Given the description of an element on the screen output the (x, y) to click on. 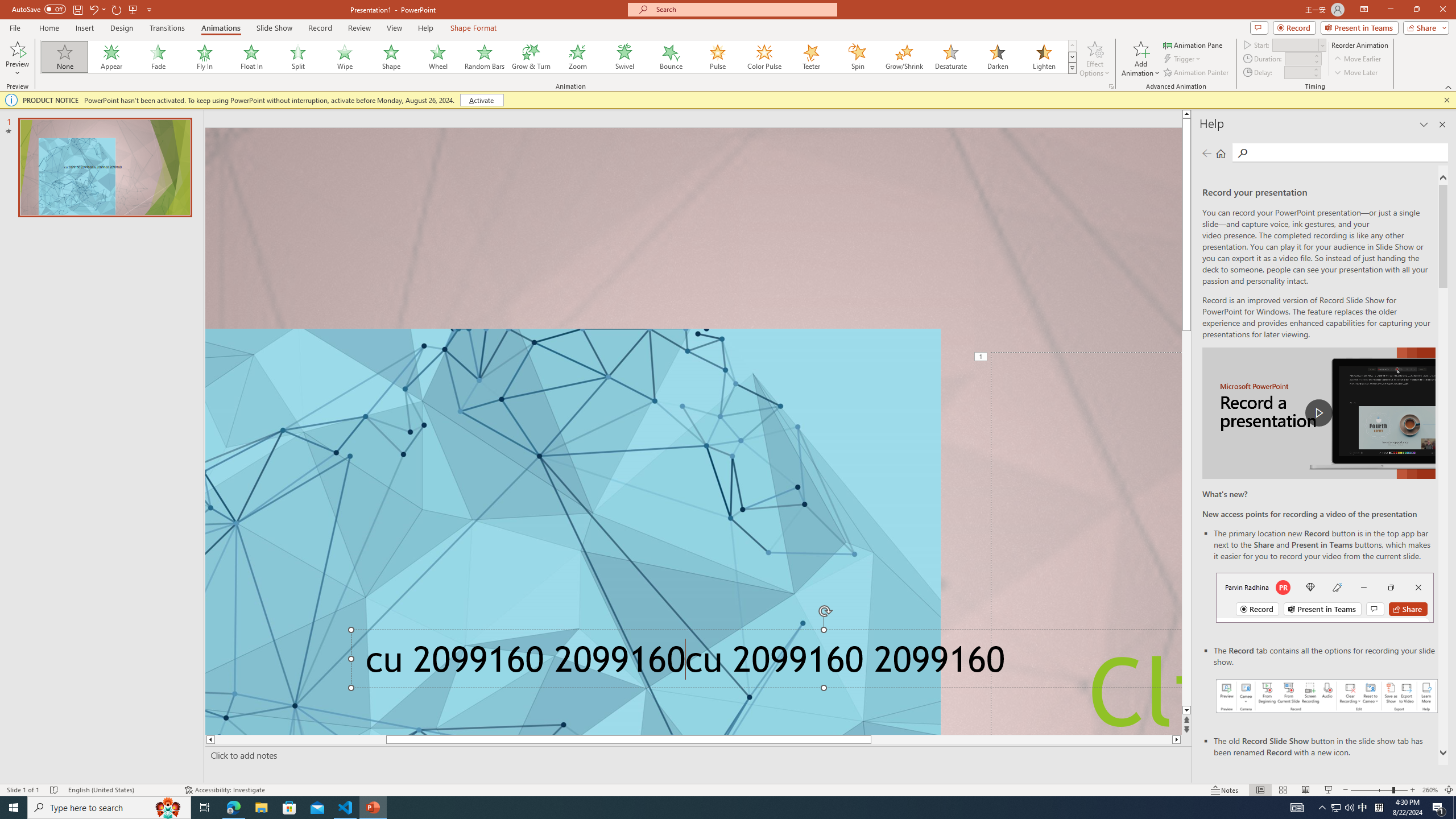
Effect Options (1094, 58)
Wipe (344, 56)
Animation, sequence 1, on Title 1 (981, 357)
Animation Duration (1298, 58)
Move Later (1355, 72)
Shape (391, 56)
